Given the description of an element on the screen output the (x, y) to click on. 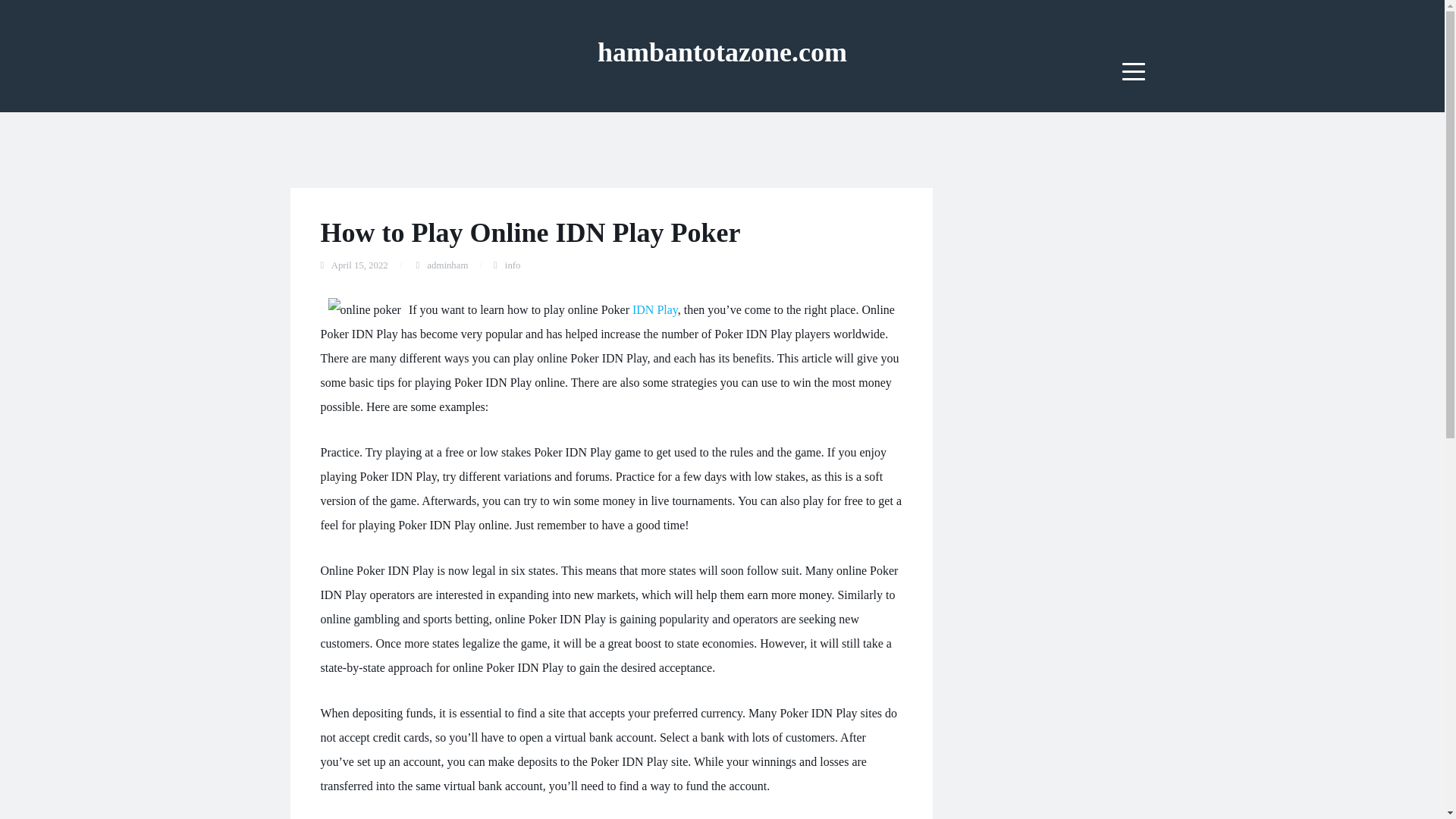
hambantotazone.com (721, 51)
adminham (446, 265)
April 15, 2022 (359, 265)
Menu (1133, 71)
info (513, 265)
IDN Play (654, 309)
